Given the description of an element on the screen output the (x, y) to click on. 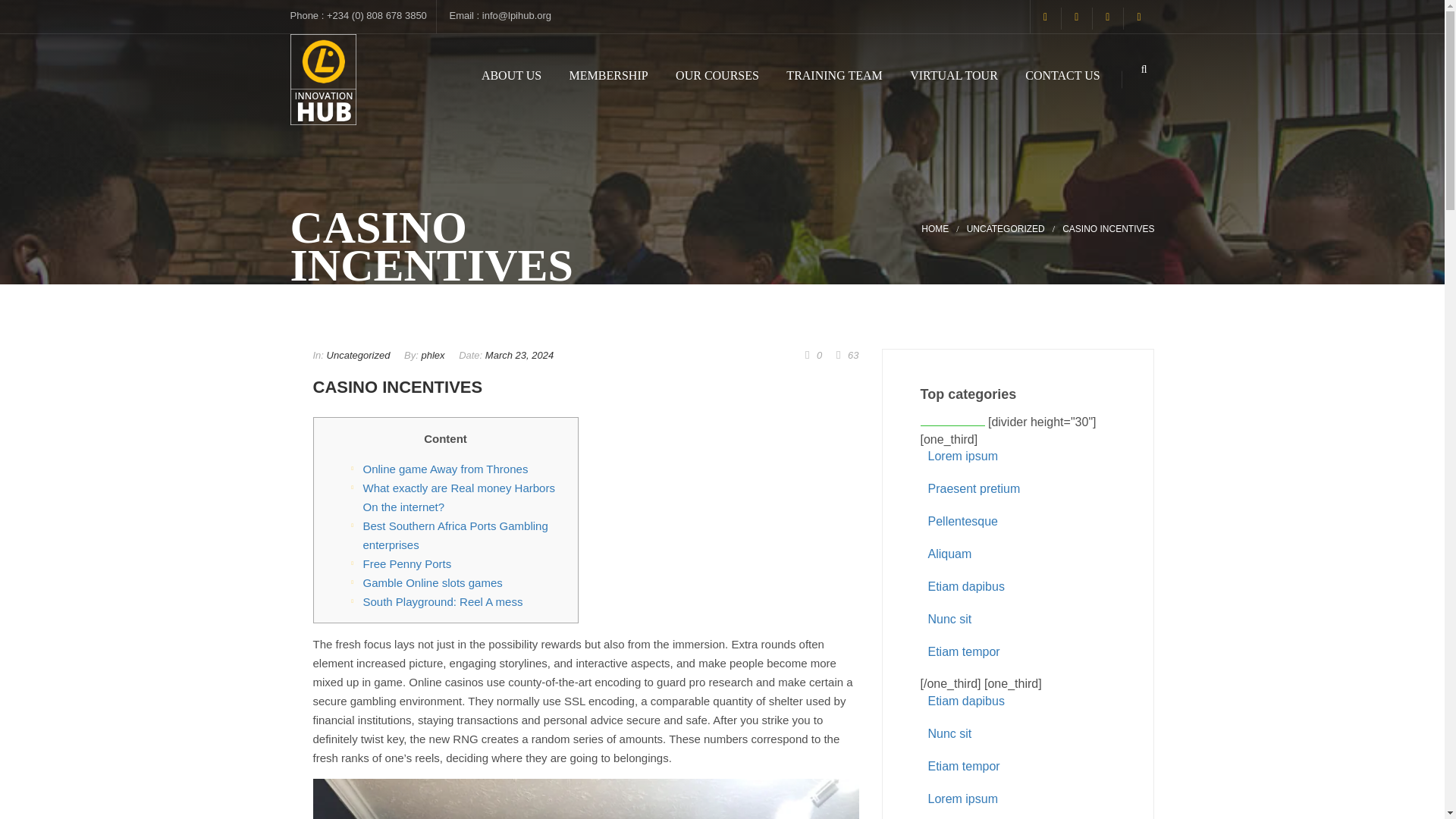
Uncategorized (1005, 228)
Search (1126, 132)
VIRTUAL TOUR (953, 75)
TRAINING TEAM (834, 75)
What exactly are Real money Harbors On the internet? (458, 497)
MEMBERSHIP (608, 75)
South Playground: Reel A mess (442, 601)
Free Penny Ports (406, 563)
Gamble Online slots games (432, 582)
Posts by phlex (432, 355)
UNCATEGORIZED (1005, 228)
0 (813, 355)
phlex (432, 355)
March 23, 2024 (518, 355)
Uncategorized (358, 355)
